Given the description of an element on the screen output the (x, y) to click on. 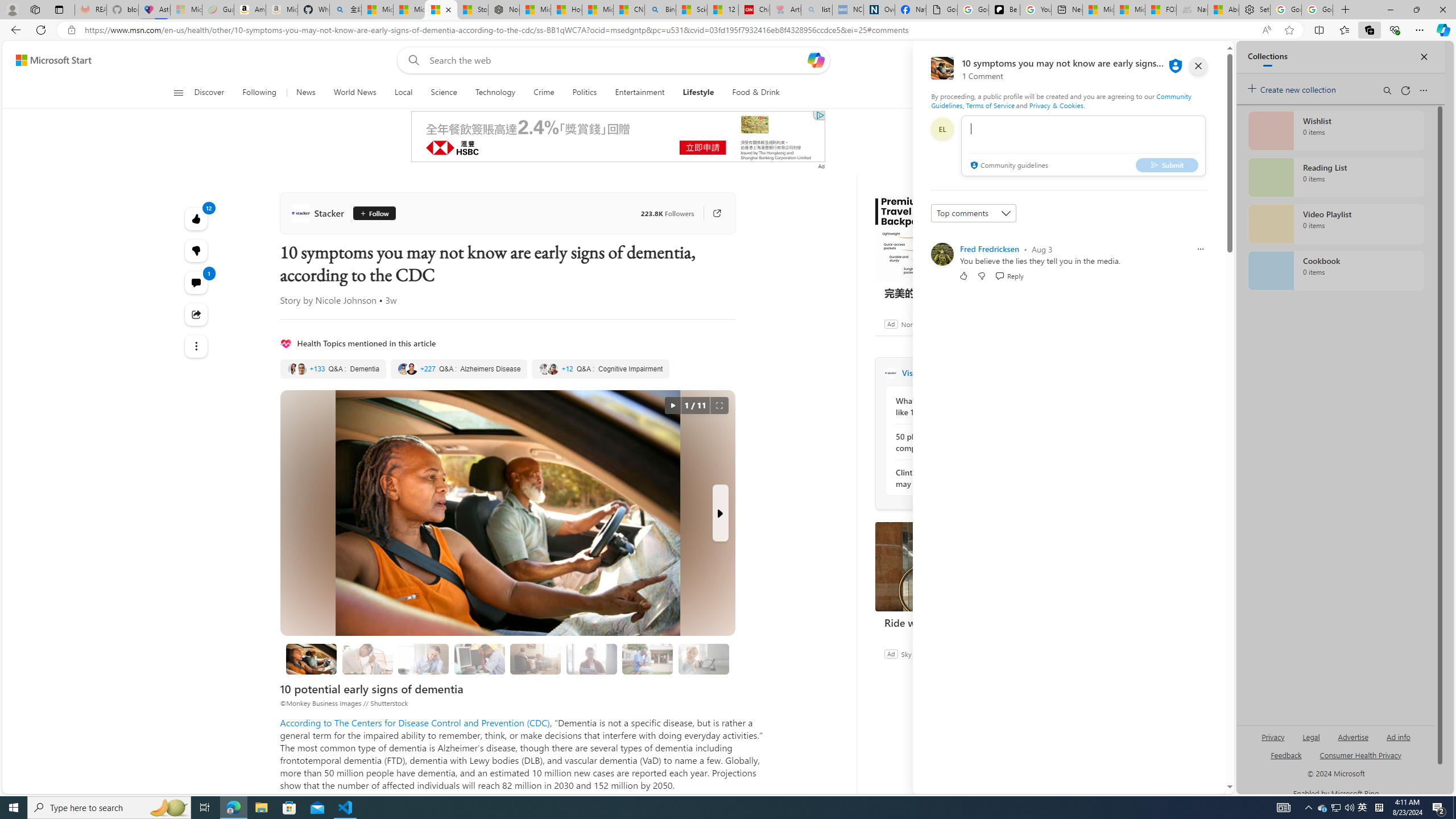
AutomationID: sb_feedback (1286, 754)
Trouble understanding visual images and spatial relations (591, 659)
Class: quote-thumbnail (552, 368)
Stacker (889, 372)
Local (403, 92)
Lifestyle (698, 92)
12 Popular Science Lies that Must be Corrected (722, 9)
comment-box (1082, 145)
